Given the description of an element on the screen output the (x, y) to click on. 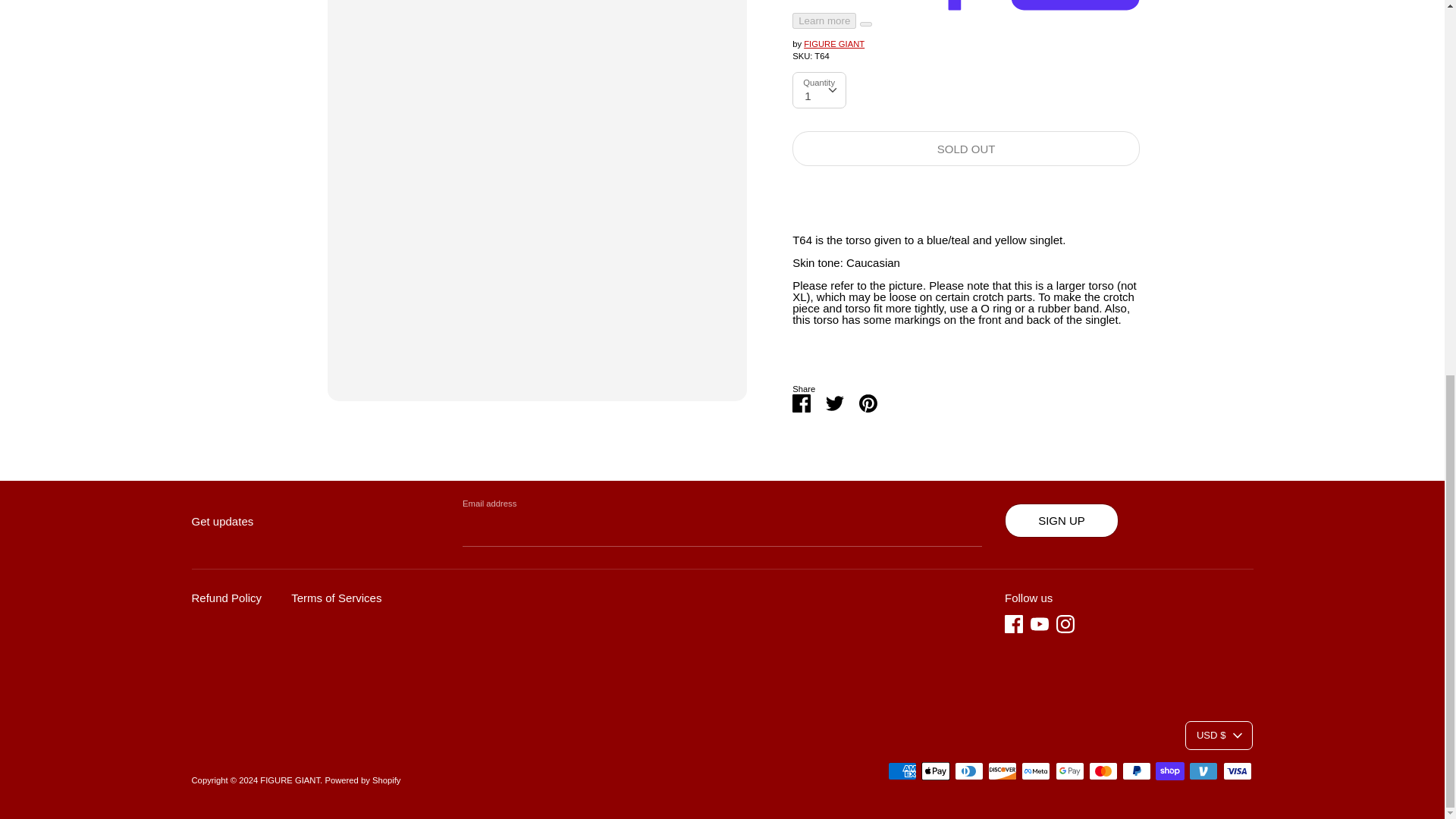
Diners Club (969, 771)
American Express (902, 771)
Google Pay (1069, 771)
Discover (1002, 771)
Mastercard (1103, 771)
PayPal (1136, 771)
Apple Pay (935, 771)
Meta Pay (1035, 771)
